Given the description of an element on the screen output the (x, y) to click on. 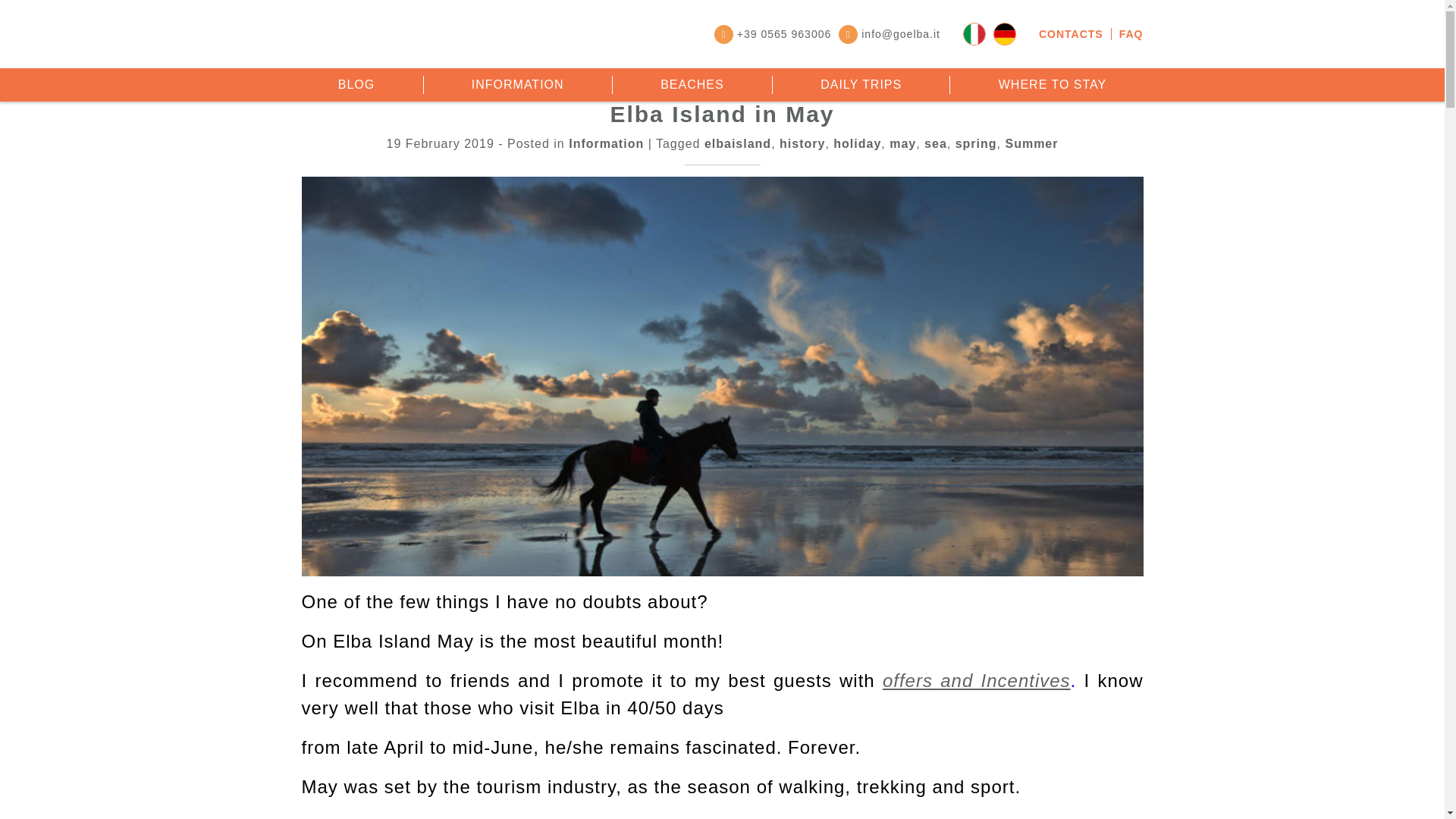
WHERE TO STAY (1052, 85)
Faq (1130, 33)
holiday (856, 143)
Contacts (1075, 33)
elbaisland (737, 143)
Italiano (973, 33)
history (801, 143)
Daily trips (861, 85)
BEACHES (691, 85)
DAILY TRIPS (861, 85)
FAQ (1130, 33)
Email (889, 33)
Information (517, 85)
spring (976, 143)
may (902, 143)
